Given the description of an element on the screen output the (x, y) to click on. 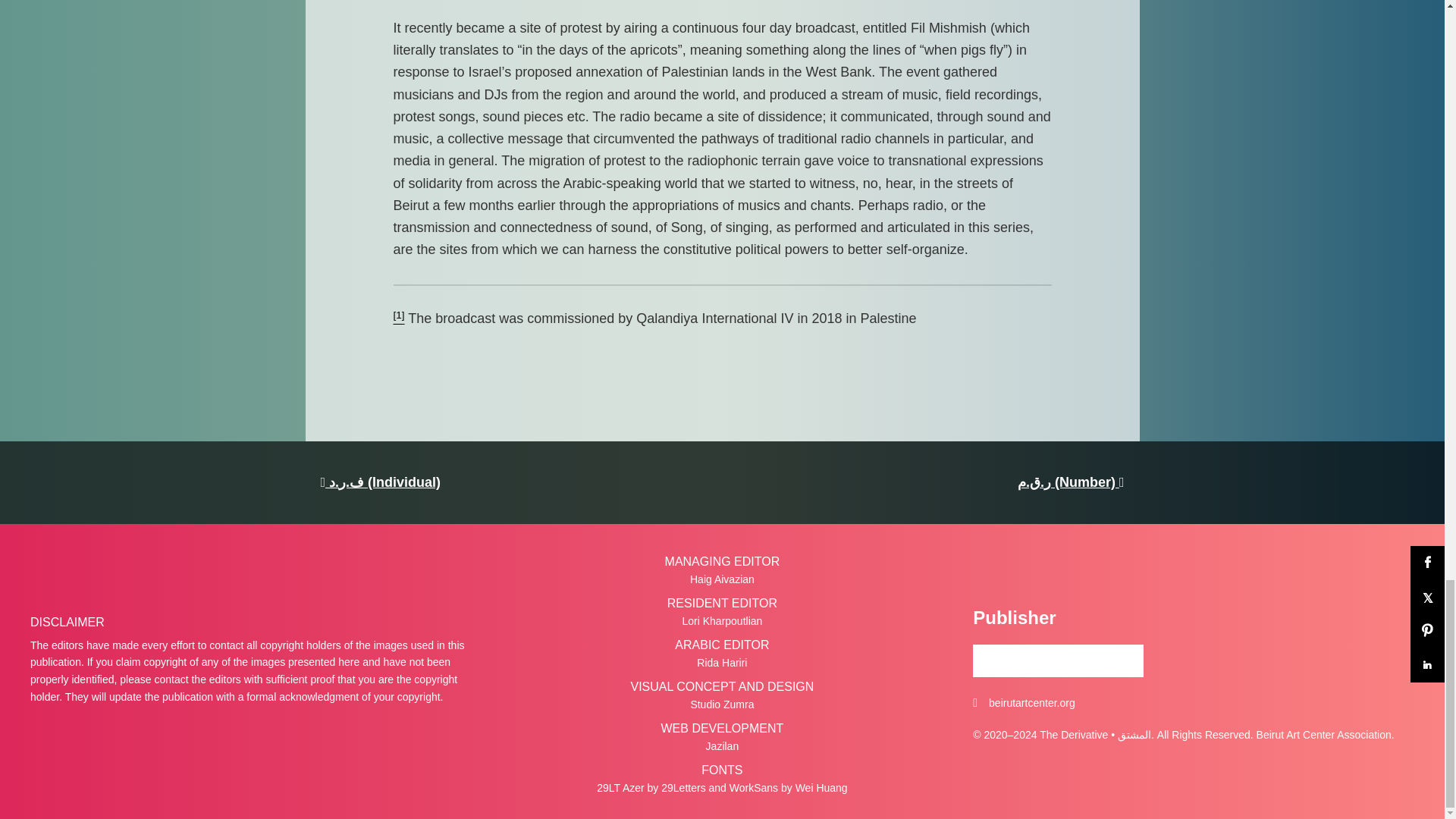
beirutartcenter.org (1031, 702)
